Given the description of an element on the screen output the (x, y) to click on. 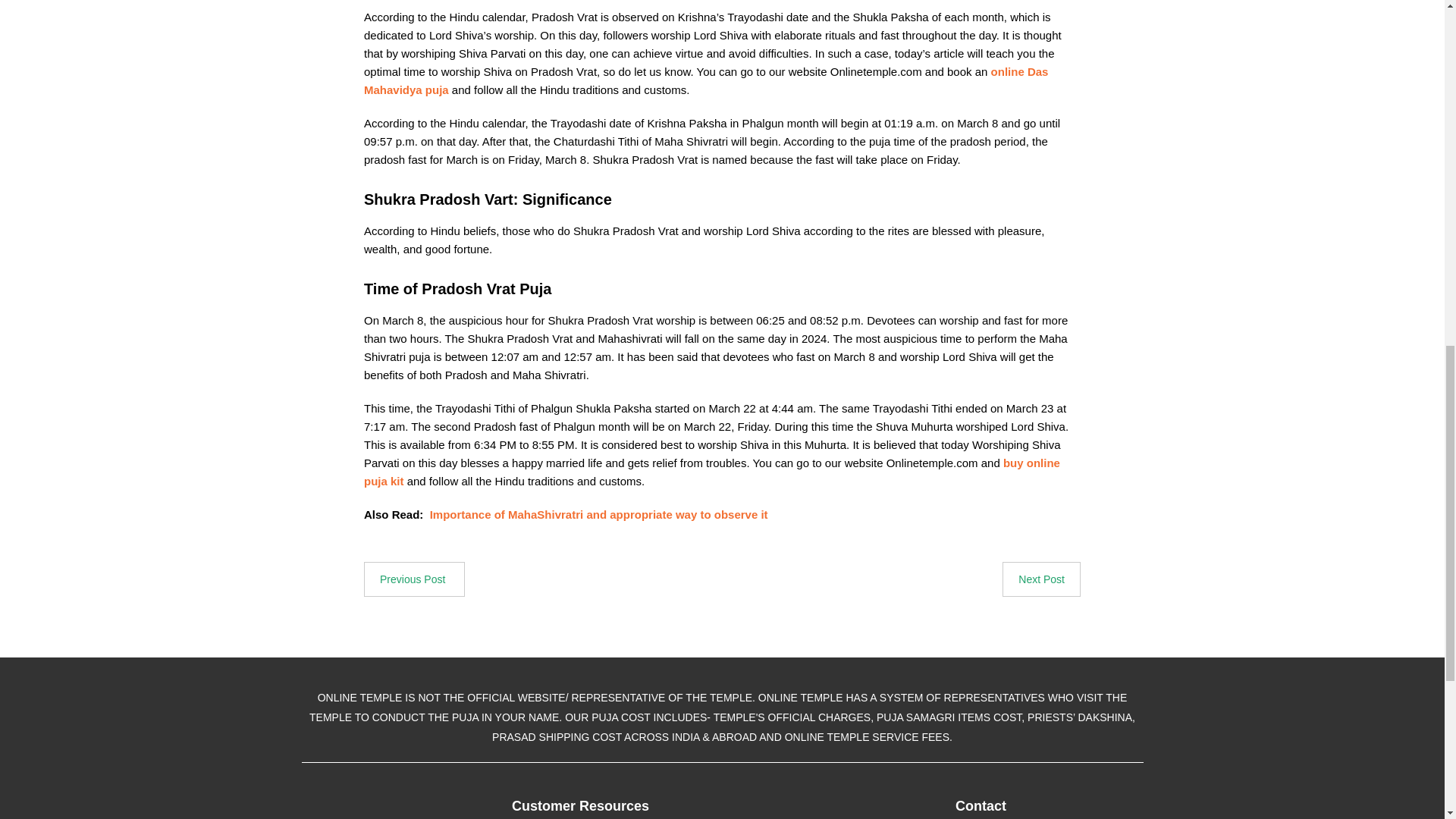
buy online puja kit (711, 471)
Previous Post (414, 579)
Next Post (1041, 579)
online Das Mahavidya puja (706, 80)
